Given the description of an element on the screen output the (x, y) to click on. 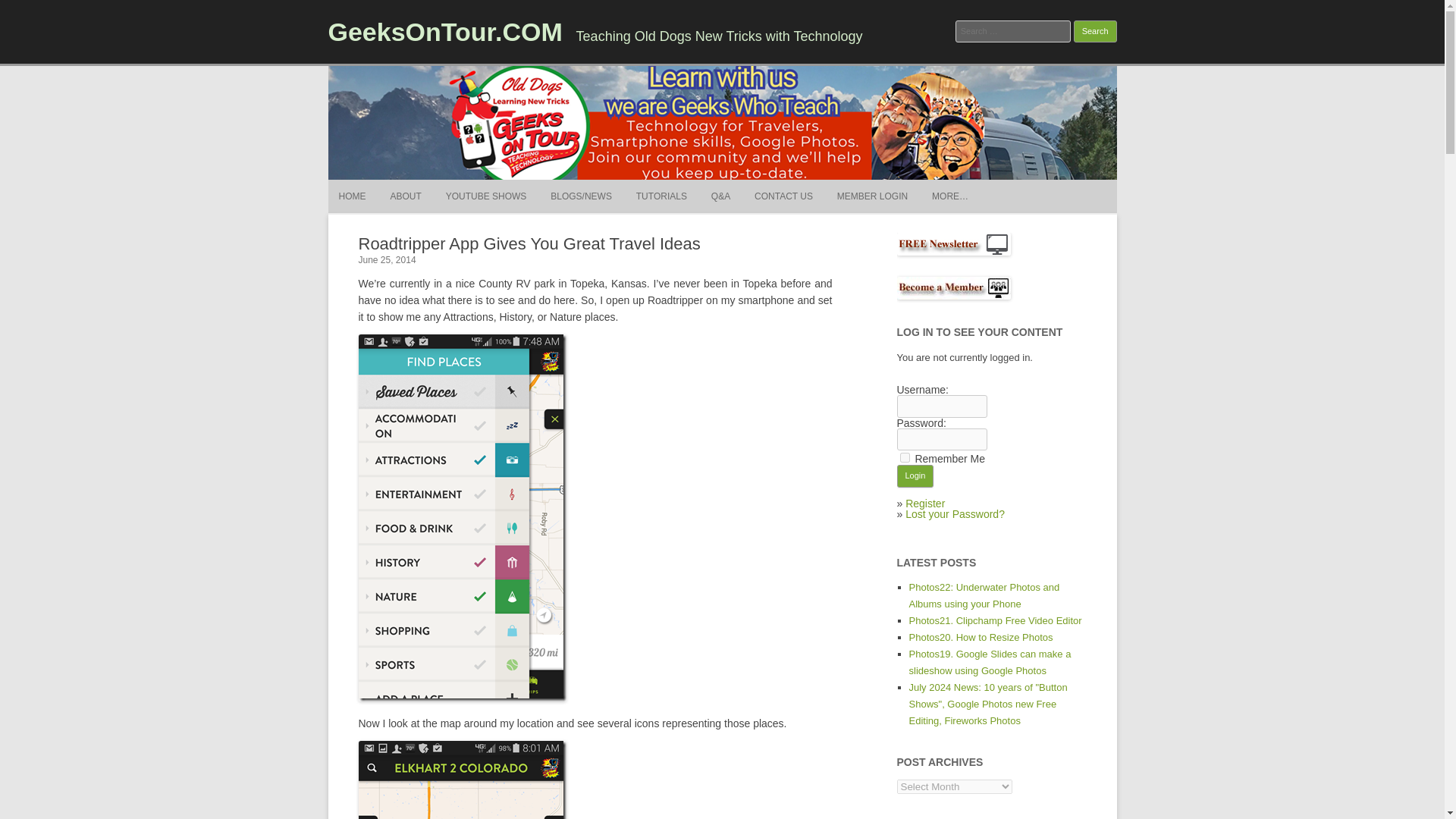
YOUTUBE SHOWS (486, 195)
Login (914, 476)
HOME (351, 195)
9:49 am (386, 259)
MEMBER LOGIN (872, 195)
Search (1095, 31)
CONTACT US (783, 195)
GeeksOnTour.COM (444, 31)
Skip to content (757, 184)
2014-06-25 12.48.50 (462, 517)
ABOUT (405, 195)
2014-06-25 13.01.40 (462, 780)
Skip to content (757, 184)
forever (903, 457)
Search (1095, 31)
